Given the description of an element on the screen output the (x, y) to click on. 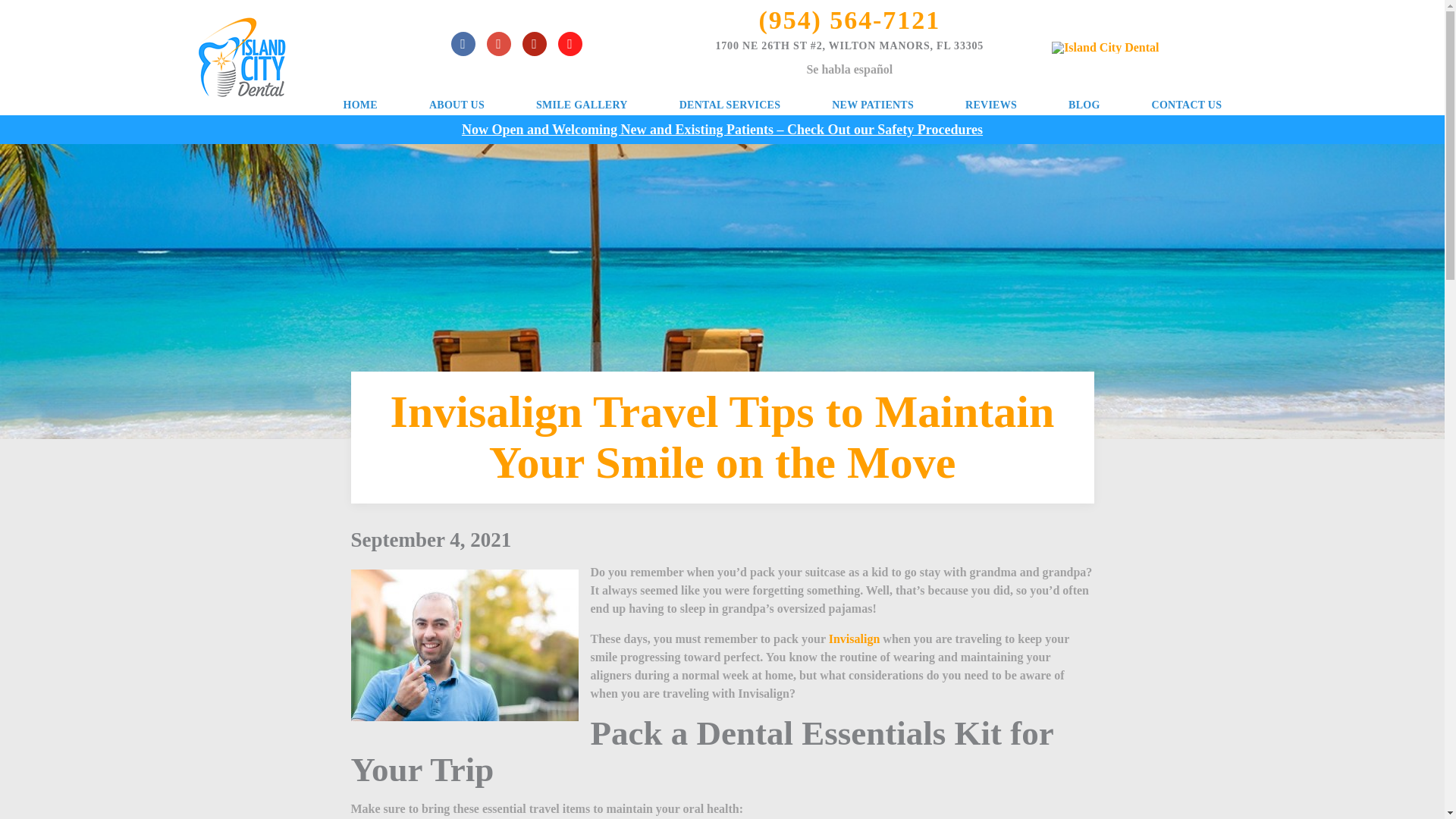
ABOUT US (456, 105)
HOME (359, 105)
DENTAL SERVICES (730, 105)
SMILE GALLERY (582, 105)
